Given the description of an element on the screen output the (x, y) to click on. 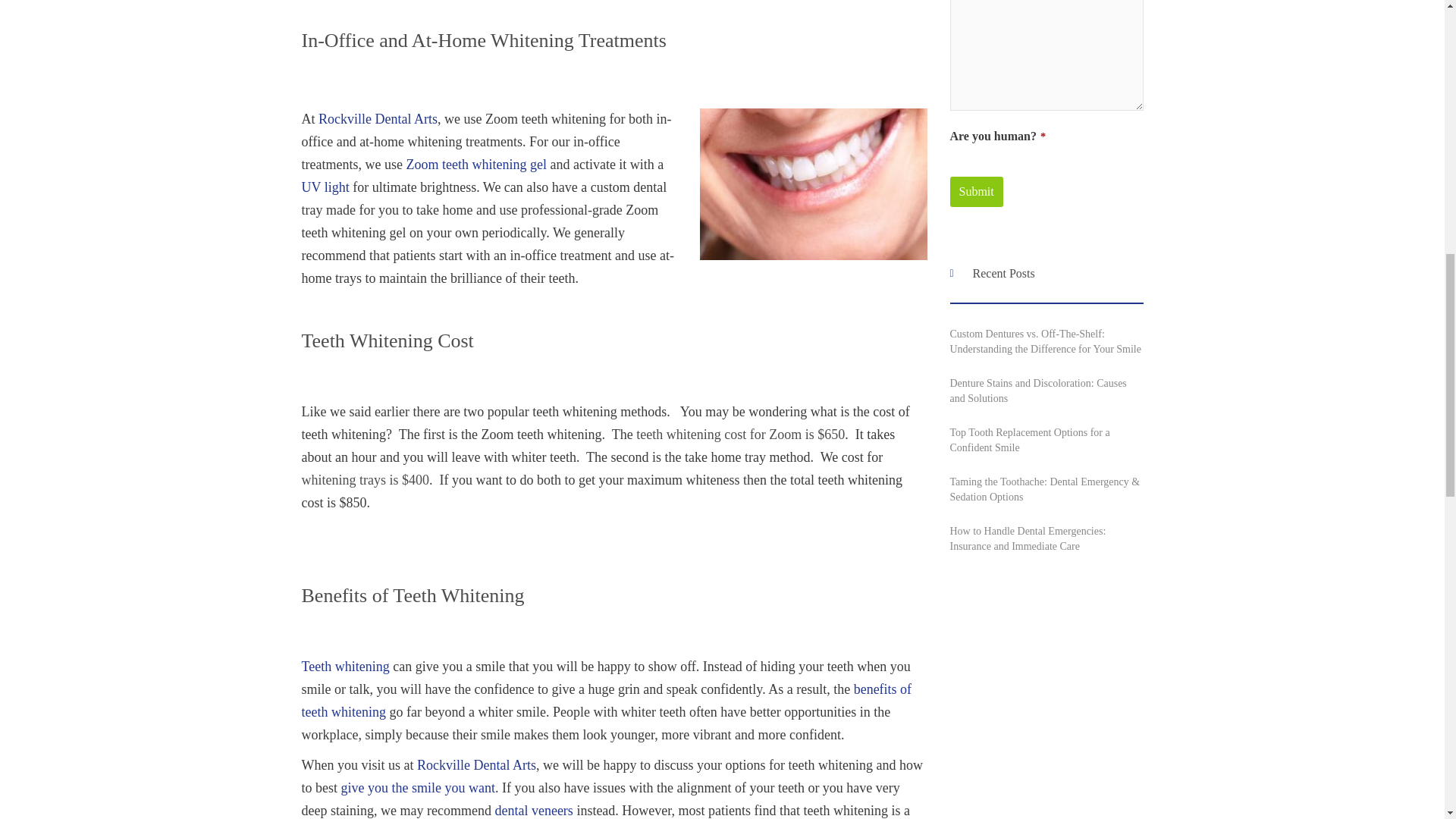
teeth whitening cost (812, 184)
